Given the description of an element on the screen output the (x, y) to click on. 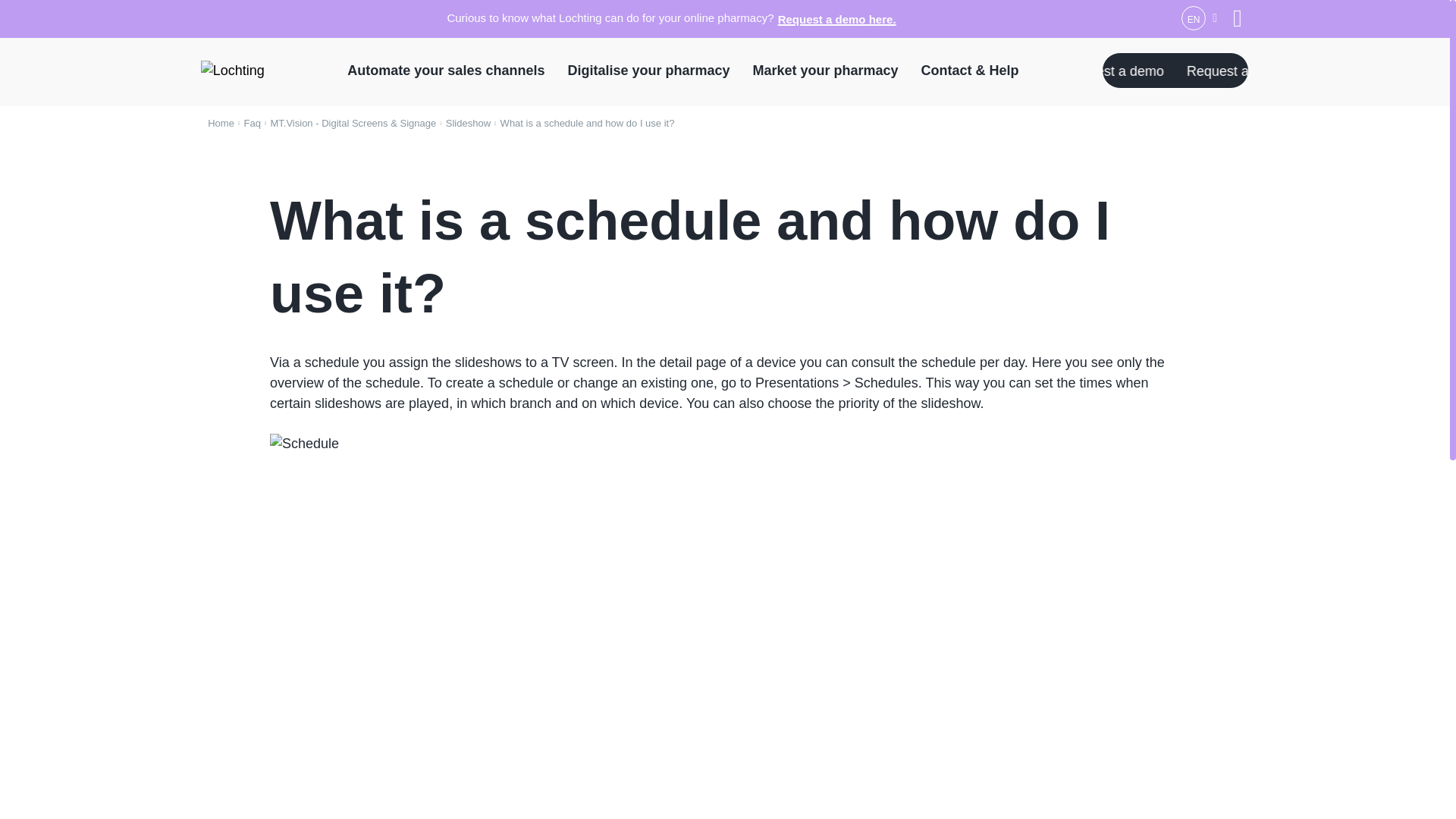
Digitalise your pharmacy (648, 70)
Home (221, 123)
Digitalise your pharmacy (648, 70)
EN (1198, 17)
Faq (1175, 70)
Automate your sales channels (249, 123)
Market your pharmacy (445, 70)
Request a demo here. (825, 70)
Automate your sales channels (836, 19)
